Given the description of an element on the screen output the (x, y) to click on. 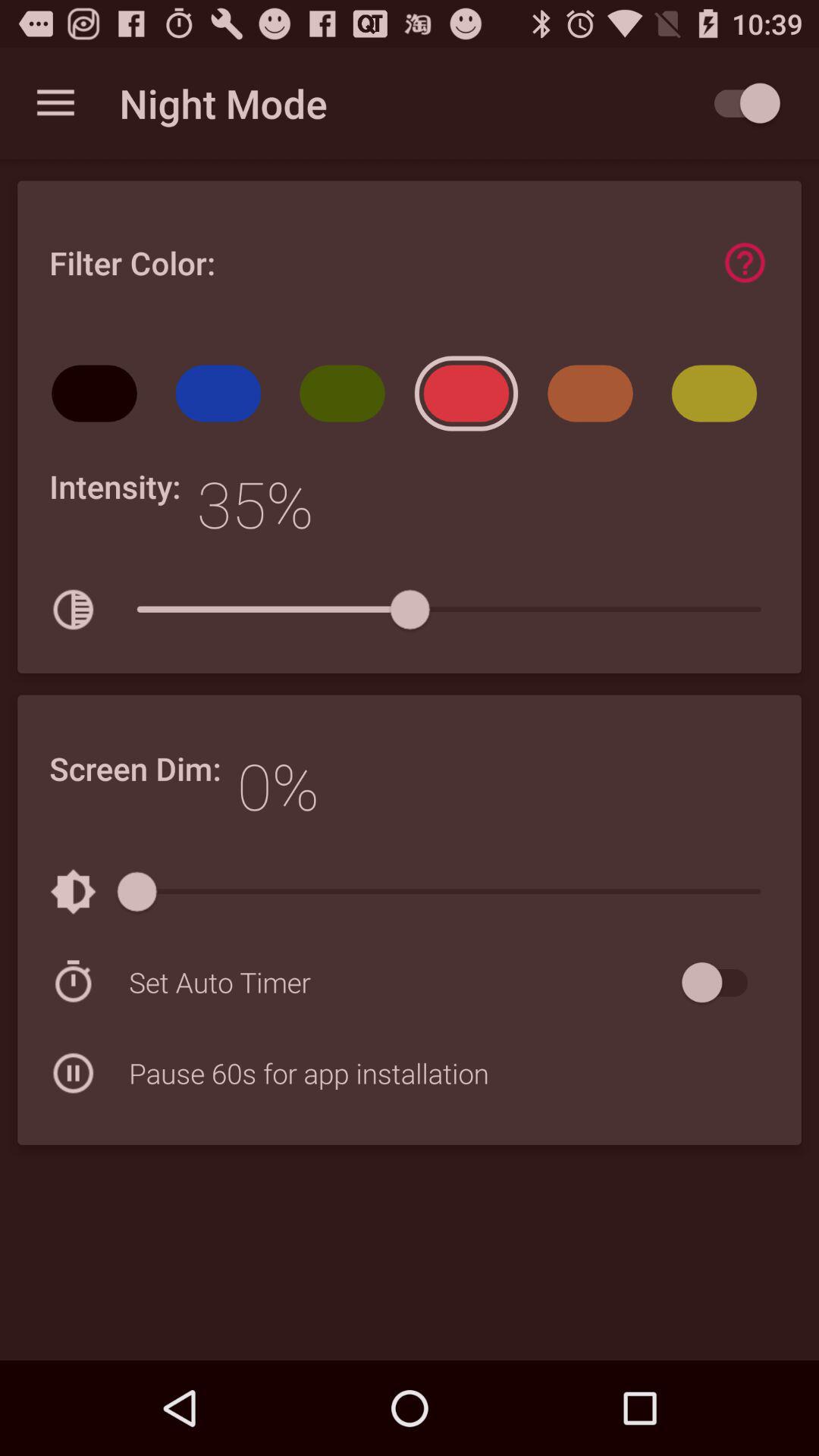
press the icon below filter color: item (223, 398)
